Given the description of an element on the screen output the (x, y) to click on. 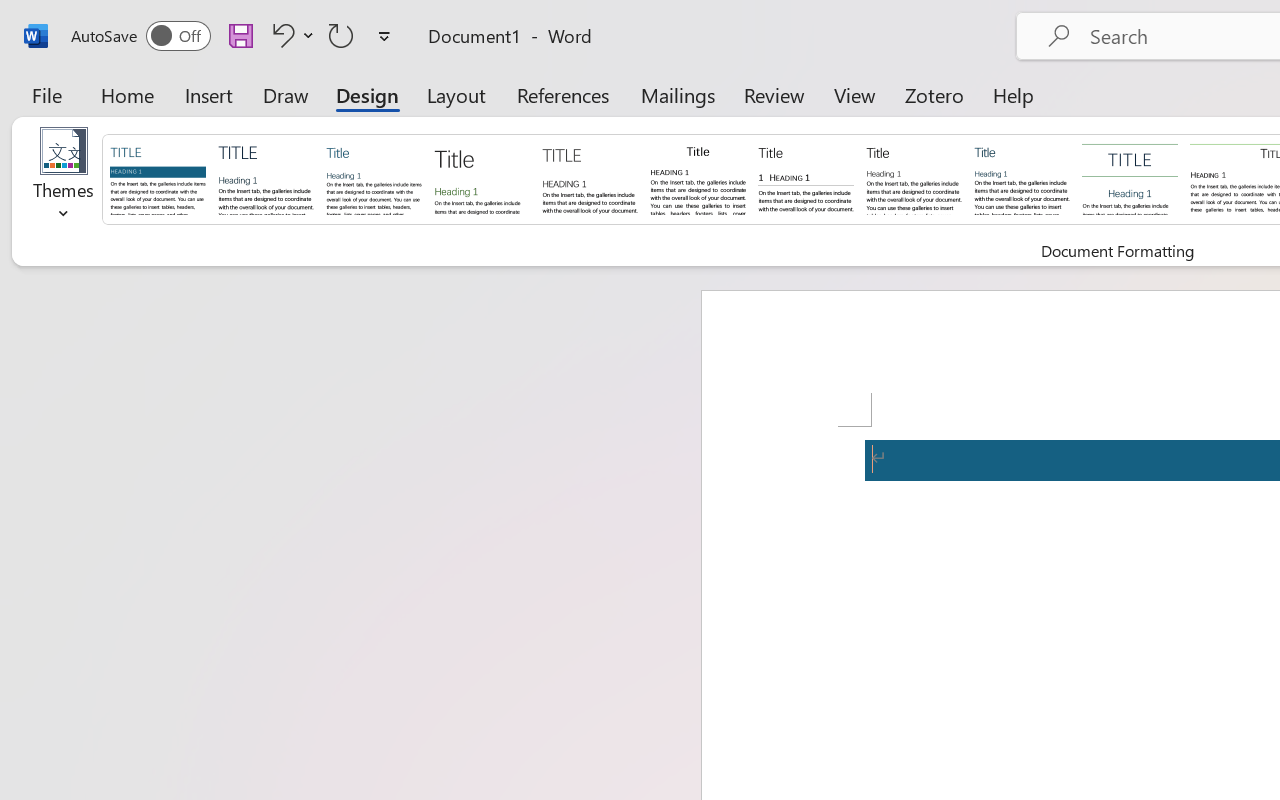
Undo Apply Quick Style Set (280, 35)
Document (157, 178)
Black & White (Numbered) (806, 178)
Undo Apply Quick Style Set (290, 35)
Casual (1021, 178)
Themes (63, 179)
